Given the description of an element on the screen output the (x, y) to click on. 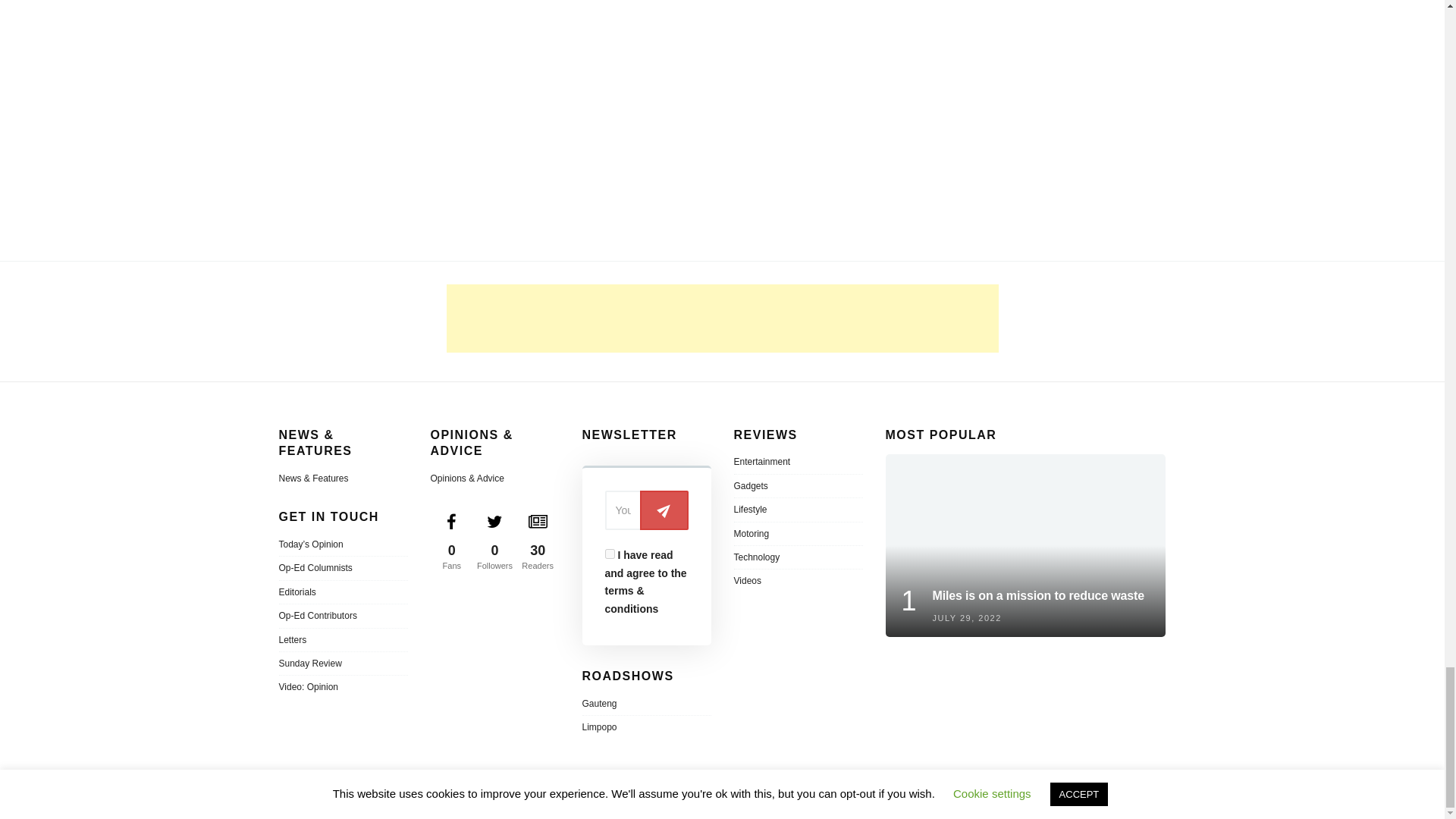
1 (609, 553)
